Given the description of an element on the screen output the (x, y) to click on. 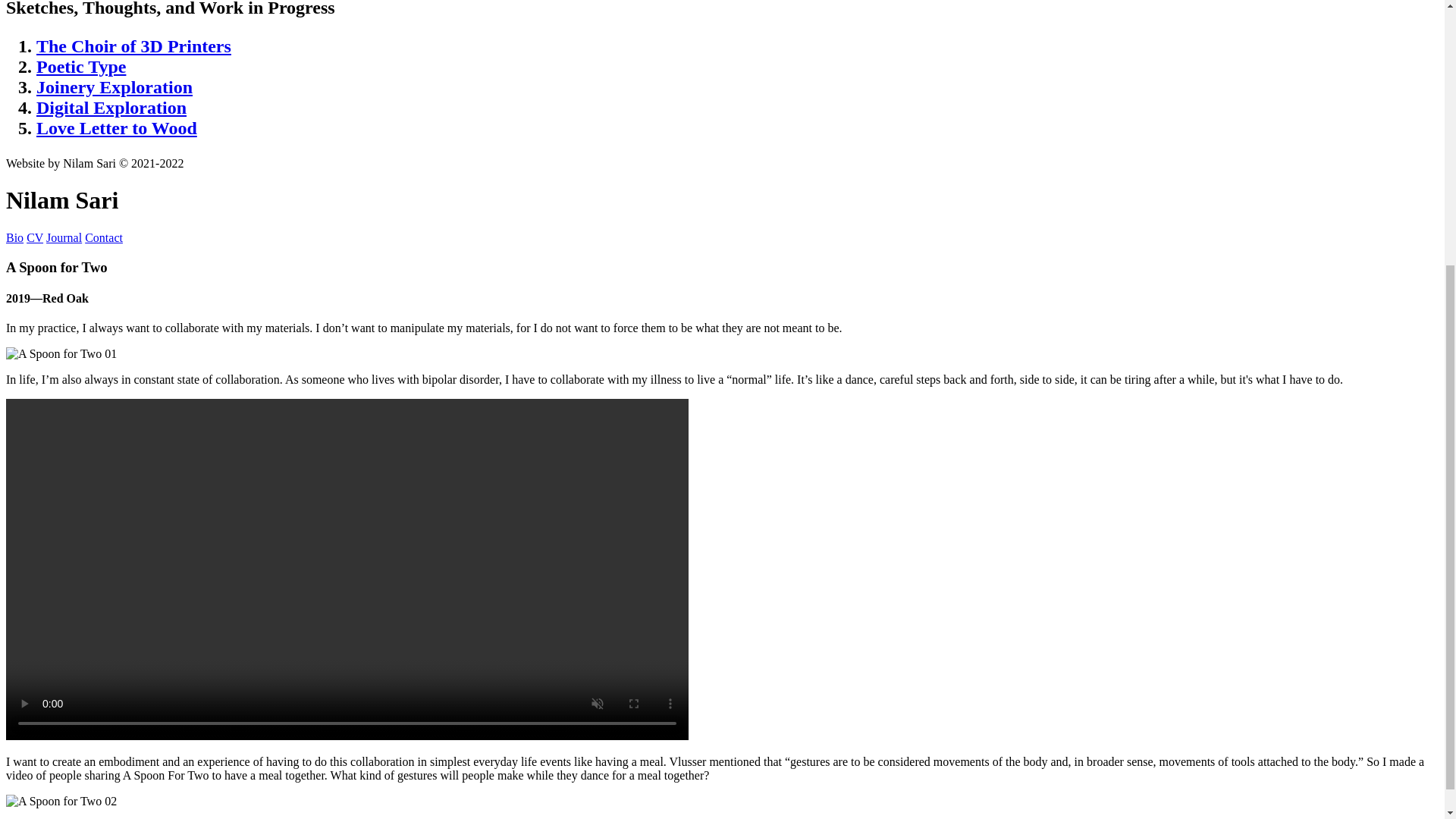
Love Letter to Wood (116, 127)
Journal (63, 237)
Poetic Type (80, 66)
Digital Exploration (111, 107)
Bio (14, 237)
The Choir of 3D Printers (133, 46)
Contact (103, 237)
CV (34, 237)
Joinery Exploration (114, 86)
